Given the description of an element on the screen output the (x, y) to click on. 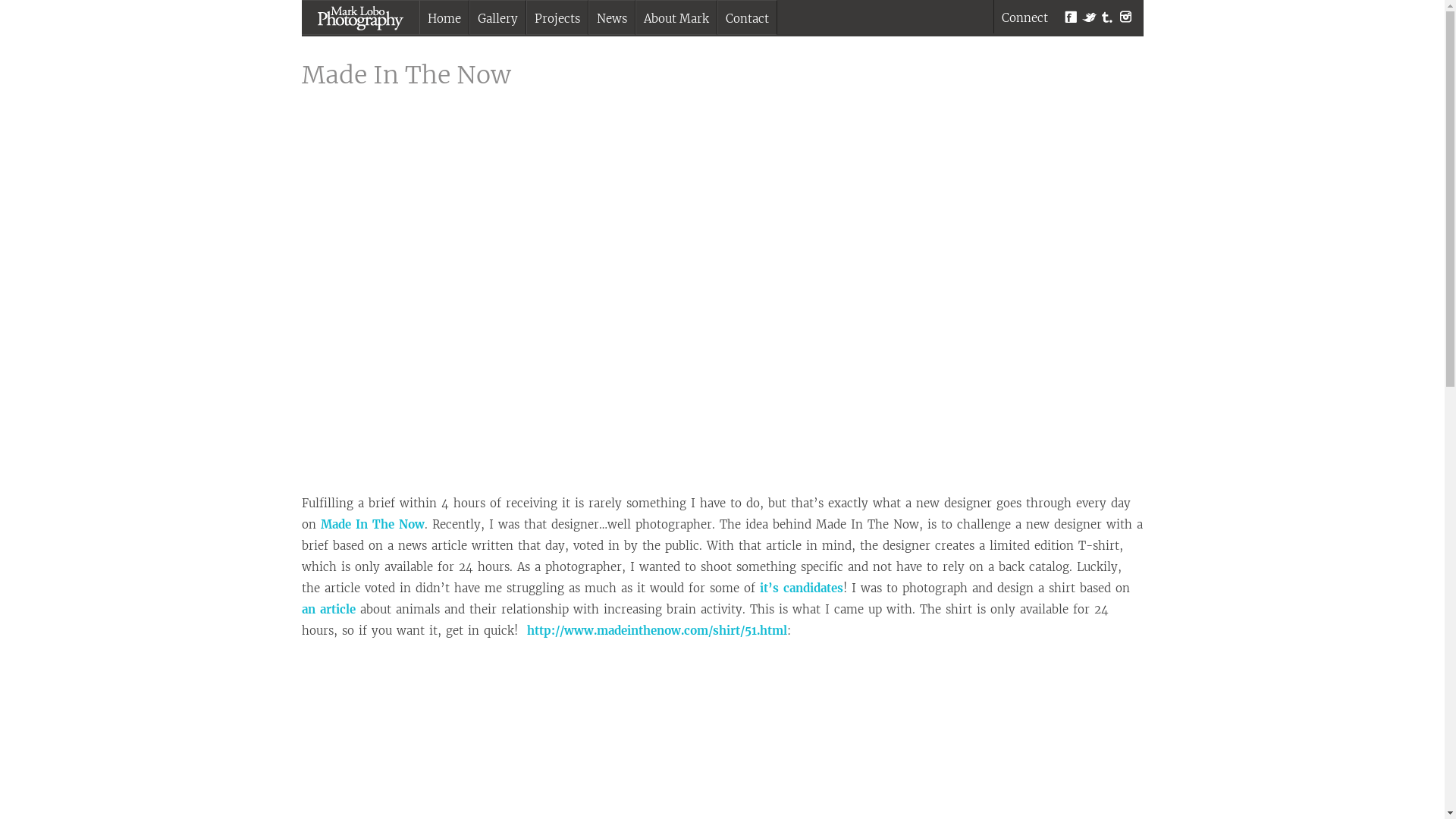
Projects Element type: text (556, 18)
Home Element type: text (444, 18)
Mark Lobo Photography - Made In The Now - T-shirt Design Element type: hover (721, 302)
About Mark Element type: text (675, 18)
Facebook Element type: text (1071, 17)
http://www.madeinthenow.com/shirt/51.html Element type: text (656, 630)
News Element type: text (611, 18)
Tumblr Element type: text (1107, 17)
Gallery Element type: text (497, 18)
Instagram Element type: text (1125, 17)
an article Element type: text (328, 609)
Contact Element type: text (746, 18)
Twitter Element type: text (1089, 17)
Made In The Now Element type: text (371, 524)
